Given the description of an element on the screen output the (x, y) to click on. 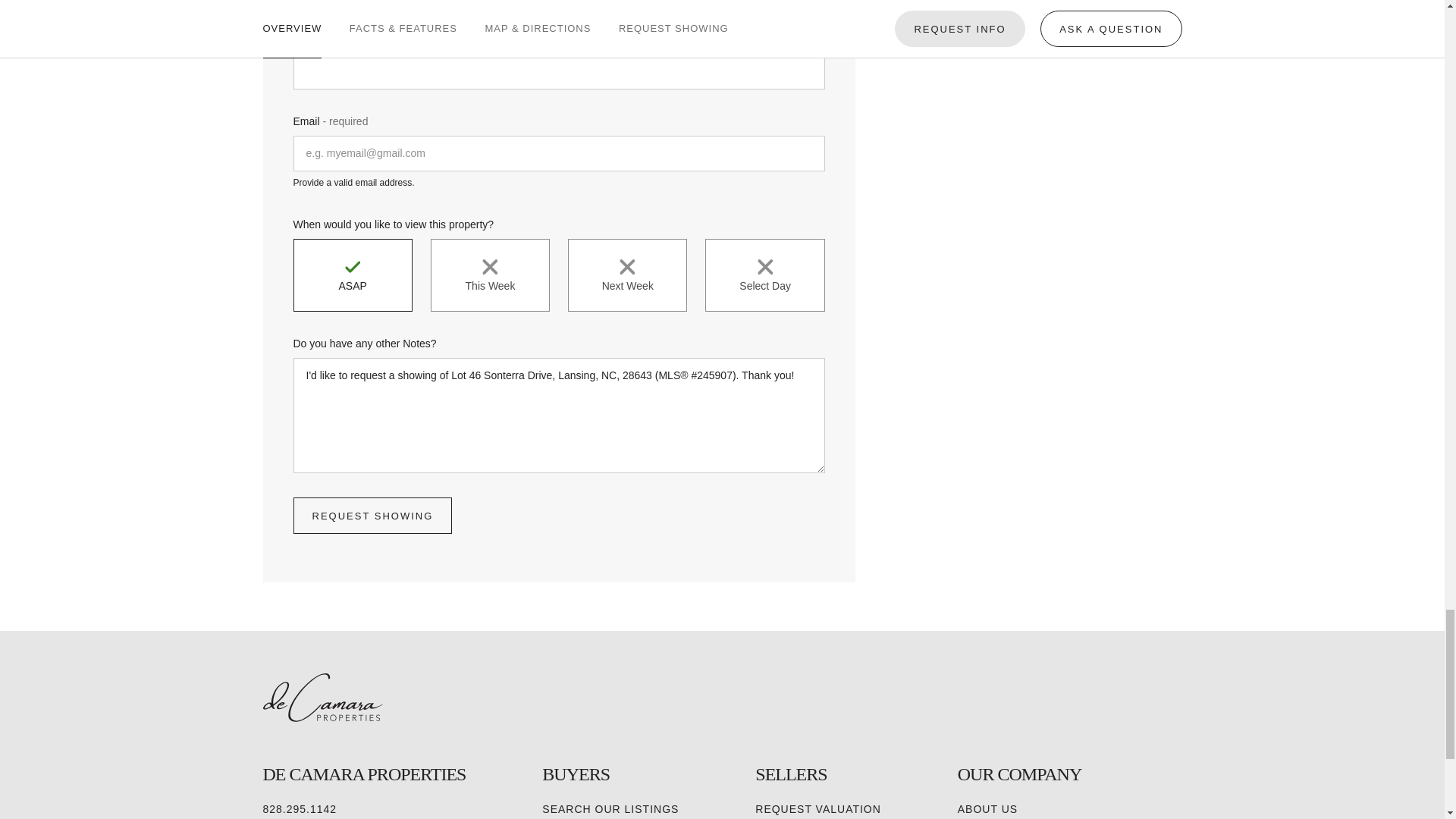
This Week (490, 275)
ASAP (352, 275)
Next Week (627, 275)
REQUEST SHOWING (371, 515)
